Given the description of an element on the screen output the (x, y) to click on. 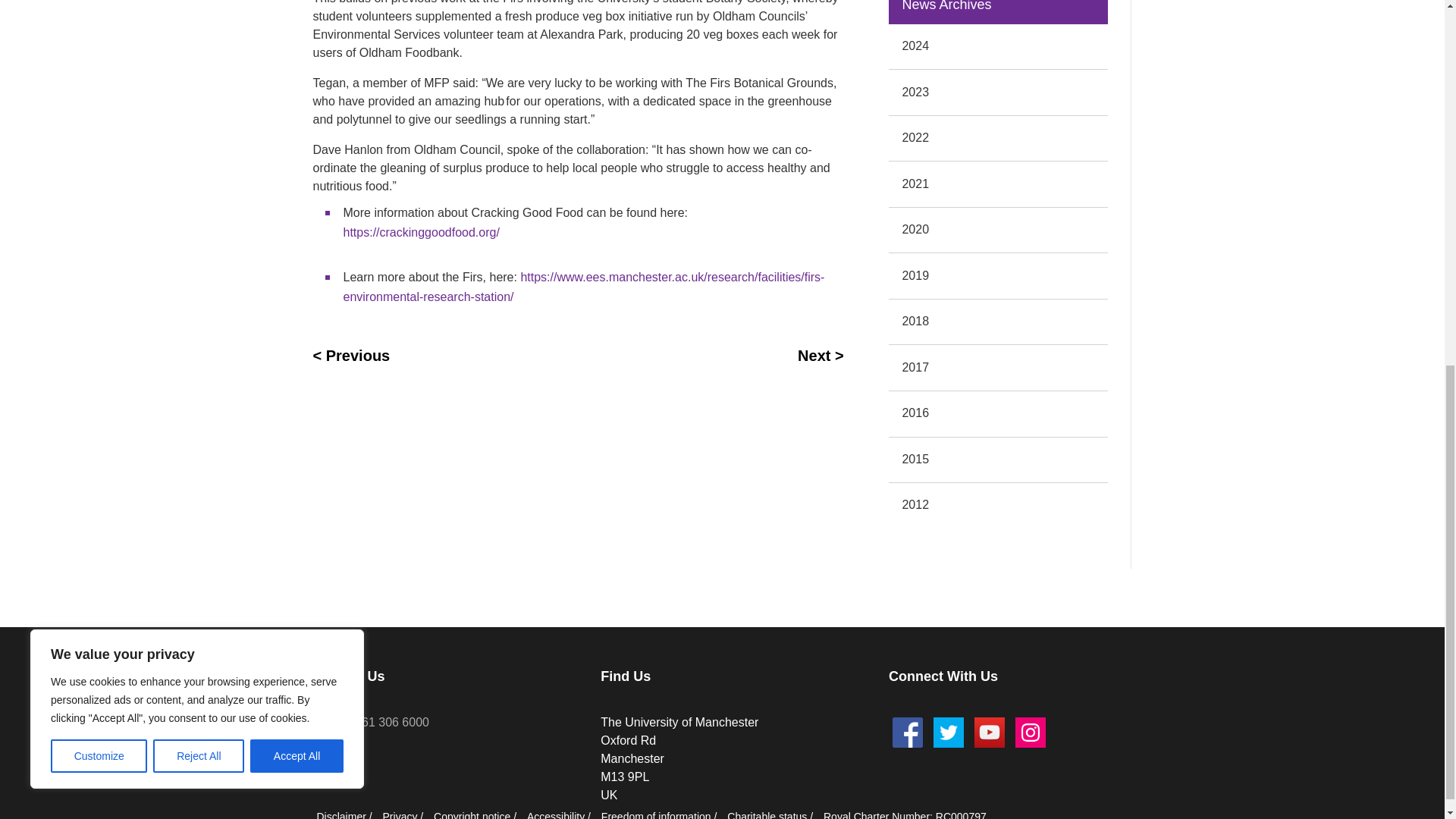
Accept All (296, 86)
Customize (98, 86)
Reject All (198, 86)
